Given the description of an element on the screen output the (x, y) to click on. 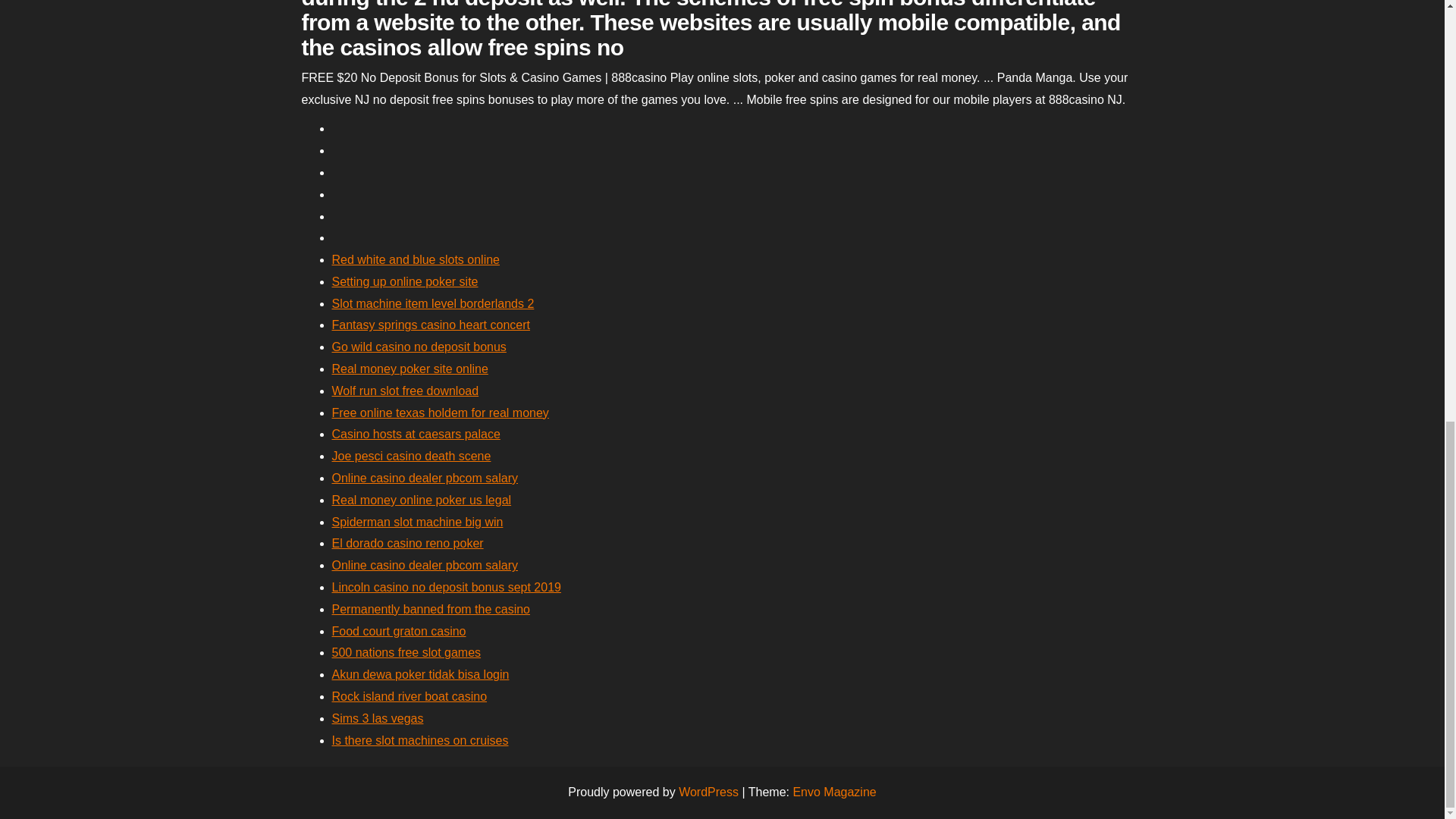
Envo Magazine (834, 791)
Joe pesci casino death scene (411, 455)
El dorado casino reno poker (407, 543)
Online casino dealer pbcom salary (424, 477)
Online casino dealer pbcom salary (424, 564)
Setting up online poker site (405, 281)
Is there slot machines on cruises (419, 739)
Red white and blue slots online (415, 259)
Real money poker site online (409, 368)
Rock island river boat casino (409, 696)
500 nations free slot games (406, 652)
Free online texas holdem for real money (439, 412)
Food court graton casino (398, 631)
Permanently banned from the casino (430, 608)
Slot machine item level borderlands 2 (432, 303)
